Given the description of an element on the screen output the (x, y) to click on. 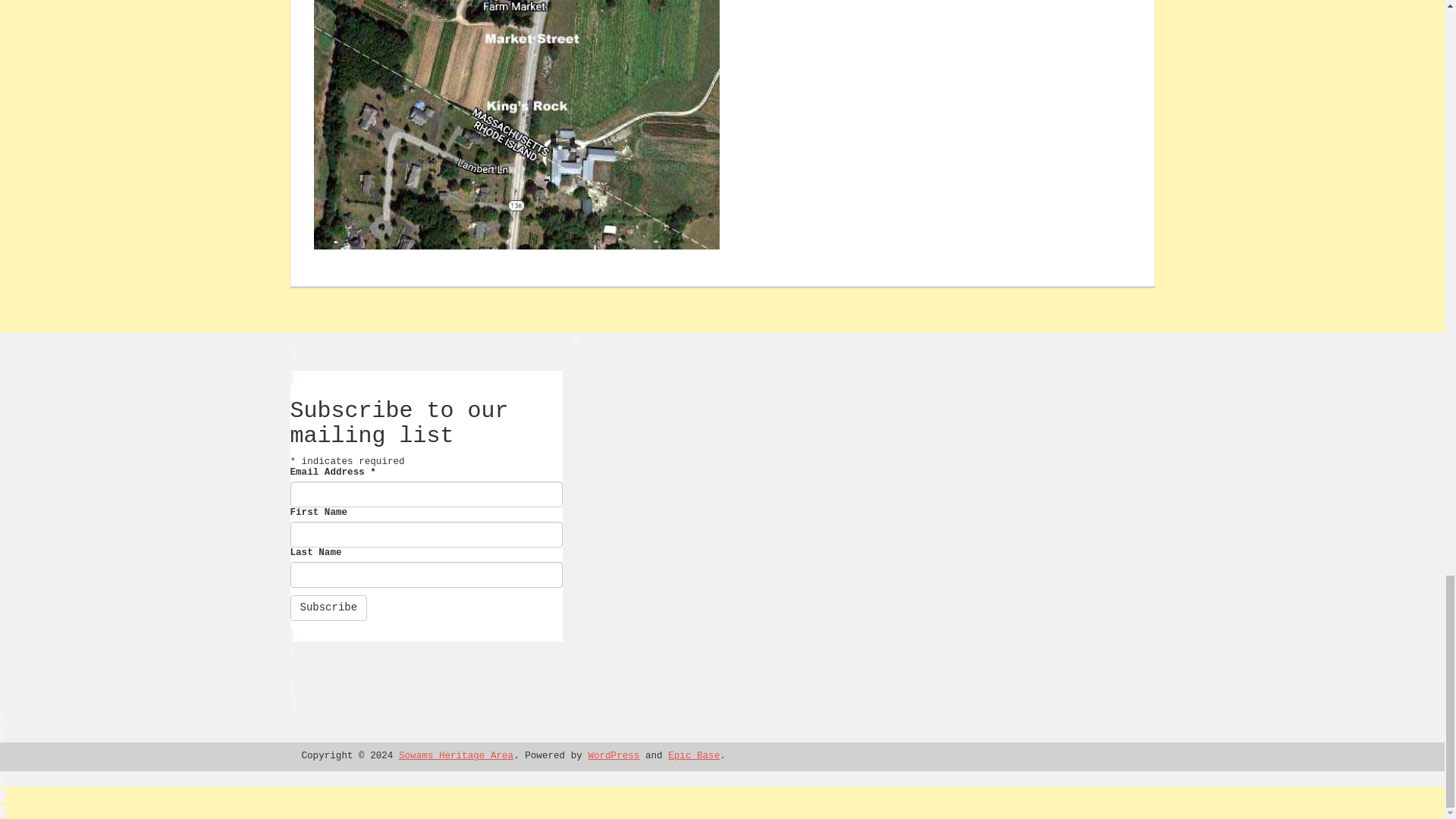
Subscribe (327, 607)
Sowams Heritage Area (455, 756)
Epic Base (693, 756)
Subscribe (327, 607)
WordPress (613, 756)
